Given the description of an element on the screen output the (x, y) to click on. 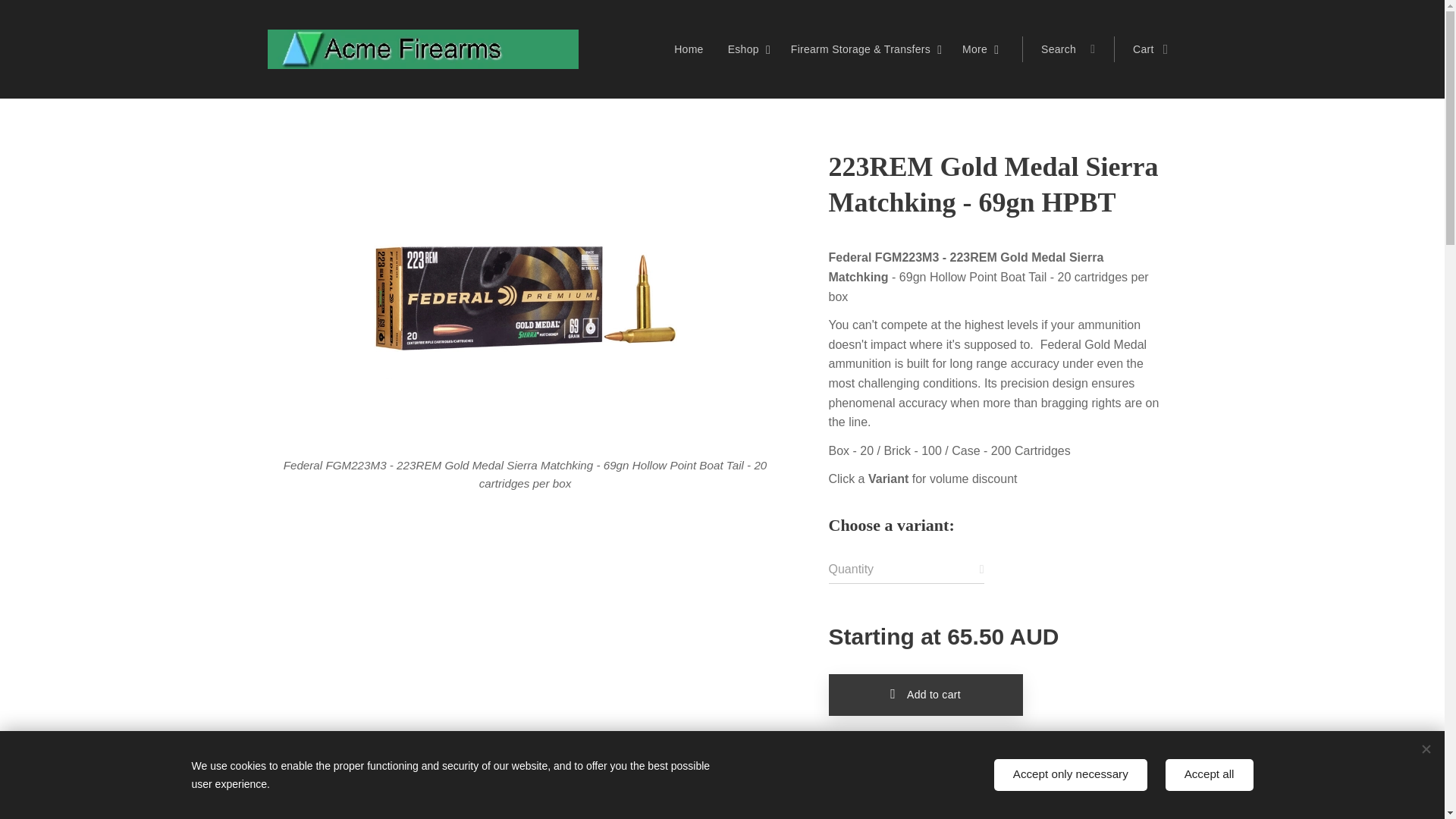
Home (691, 48)
Cart (1144, 48)
Eshop (747, 48)
